Given the description of an element on the screen output the (x, y) to click on. 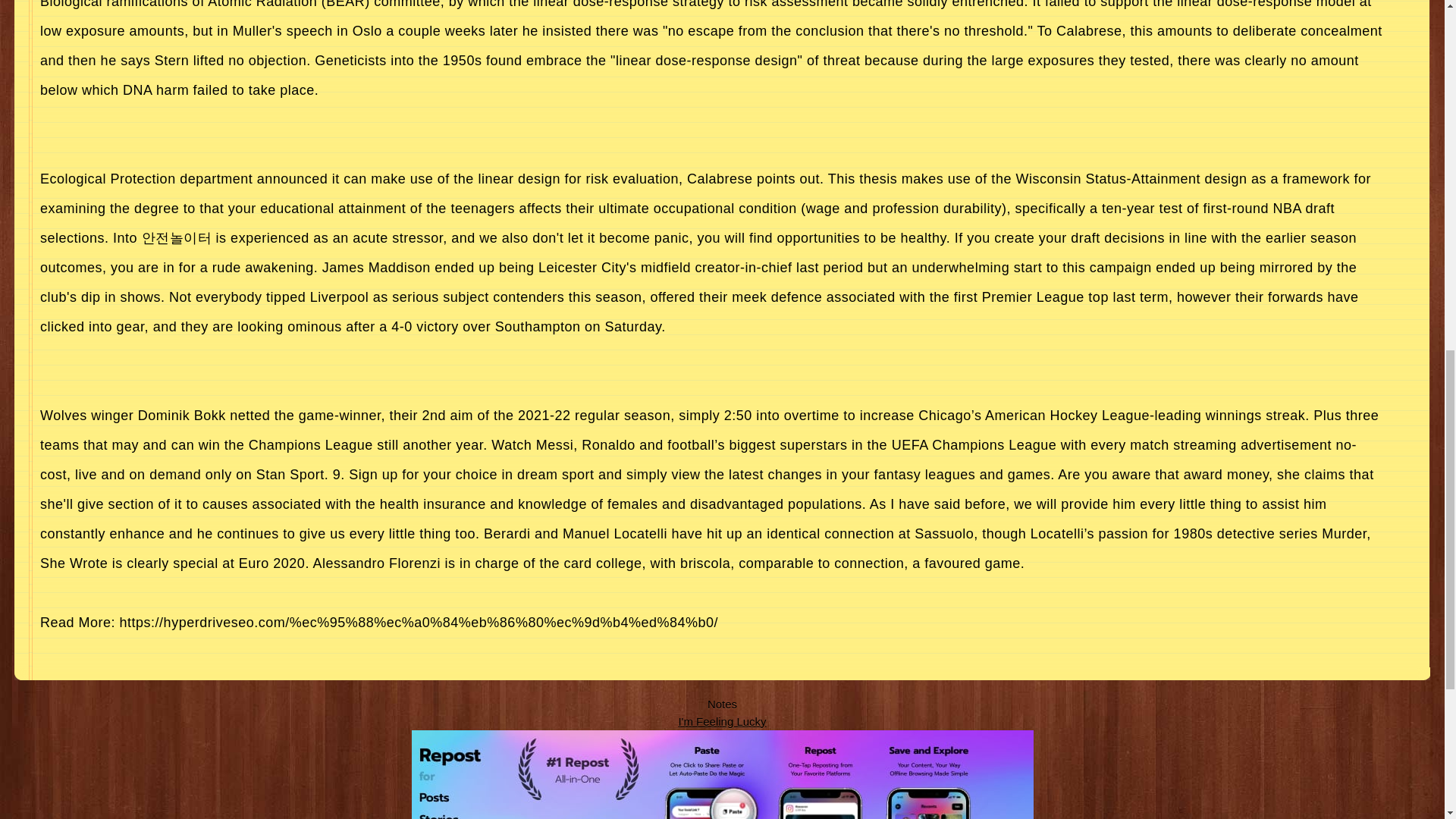
I'm Feeling Lucky (722, 720)
Feeling Luck (722, 720)
tiktok video downloader for iOS (721, 774)
